Given the description of an element on the screen output the (x, y) to click on. 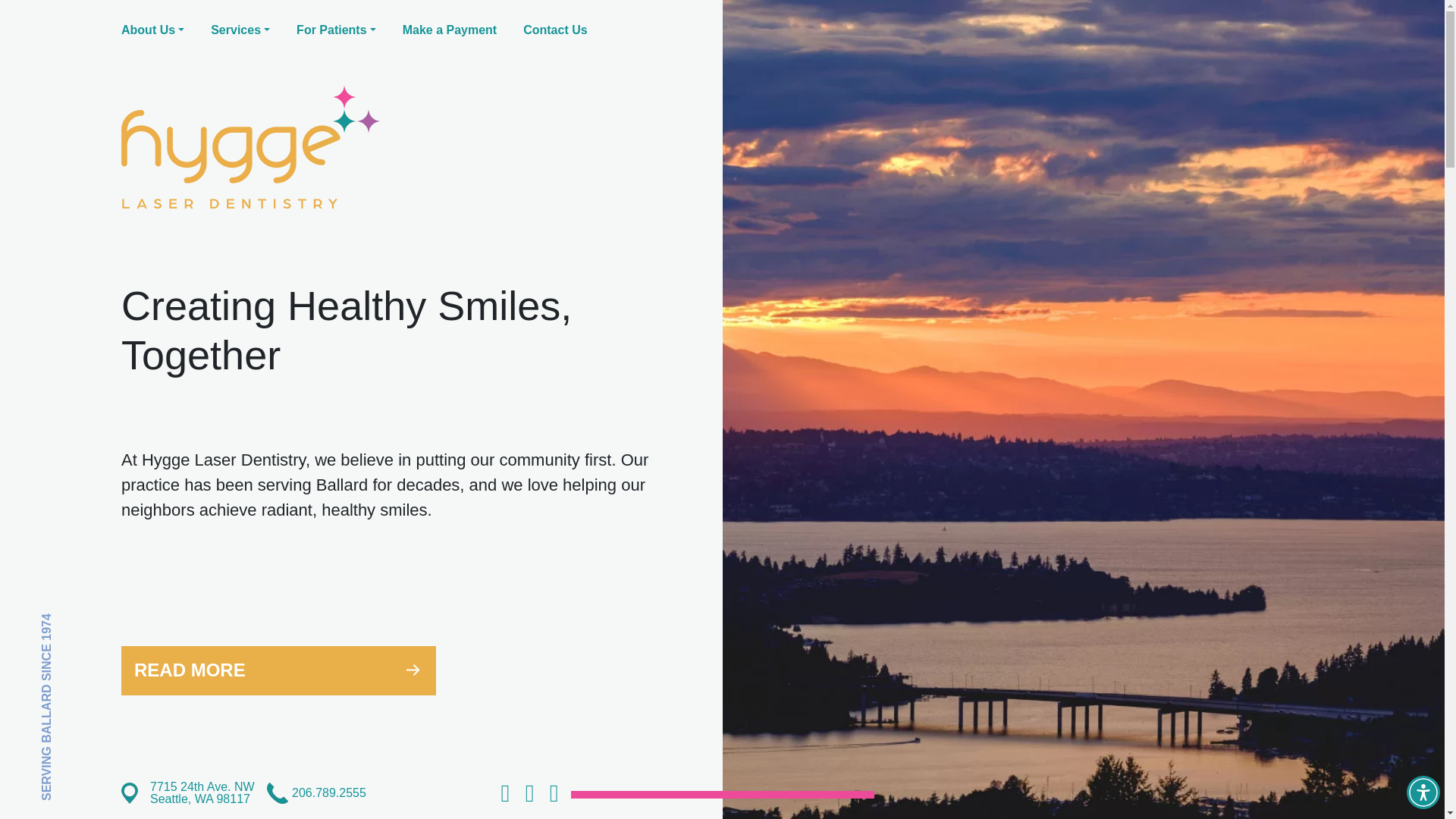
Accessibility Menu (1422, 792)
Services (240, 30)
Make a Payment (450, 30)
About Us (152, 30)
For Patients (336, 30)
Contact Us (554, 30)
About Us (152, 30)
Services (240, 30)
